Given the description of an element on the screen output the (x, y) to click on. 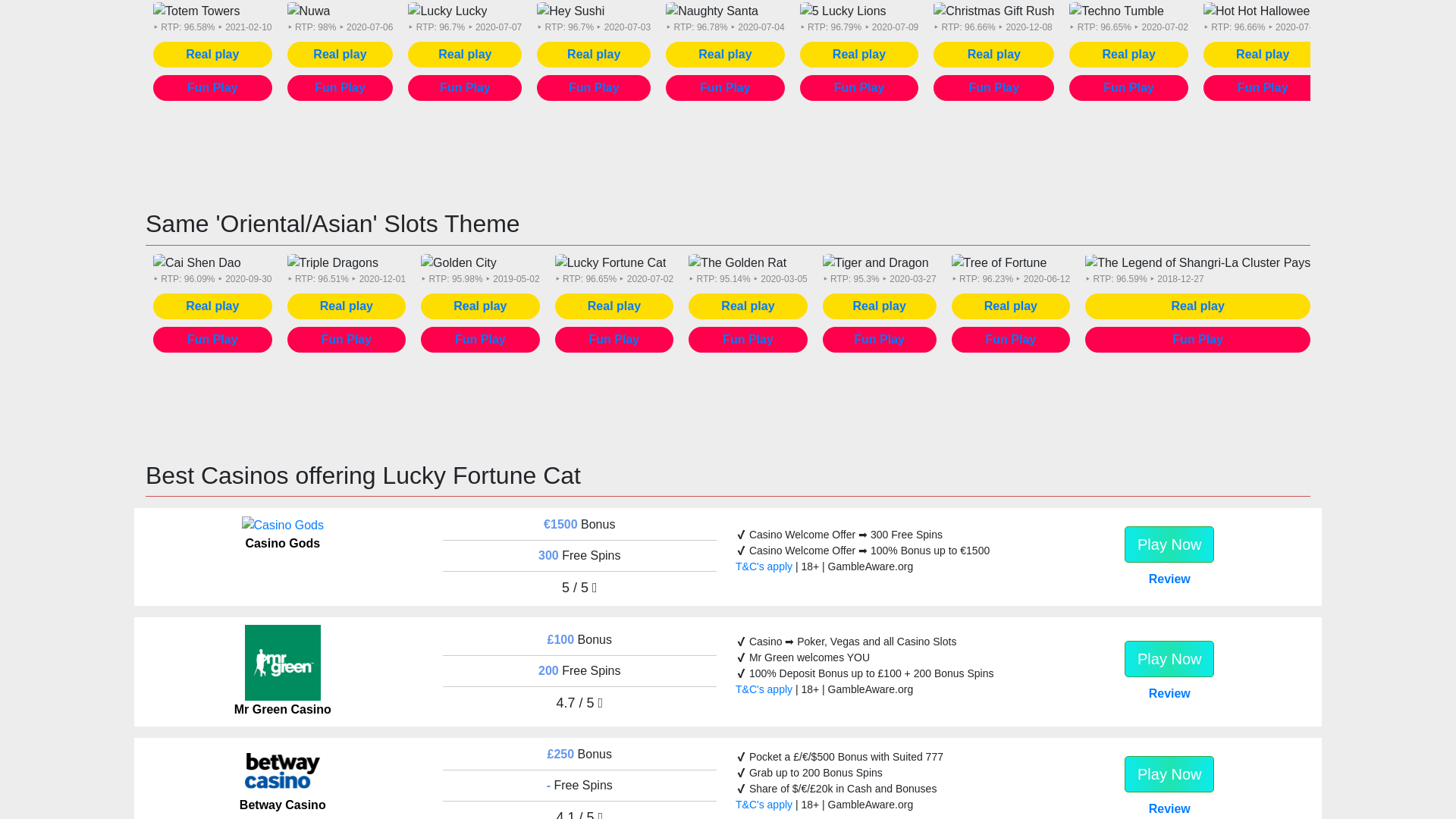
Christmas Gift Rush (993, 11)
Hot Hot Halloween (1260, 11)
Naughty Santa (711, 11)
Nuwa (308, 11)
Hey Sushi (570, 11)
5 Lucky Lions (842, 11)
Techno Tumble (1115, 11)
Totem Towers (196, 11)
Lucky Fortune Cat (1392, 11)
Lucky Lucky (446, 11)
